Given the description of an element on the screen output the (x, y) to click on. 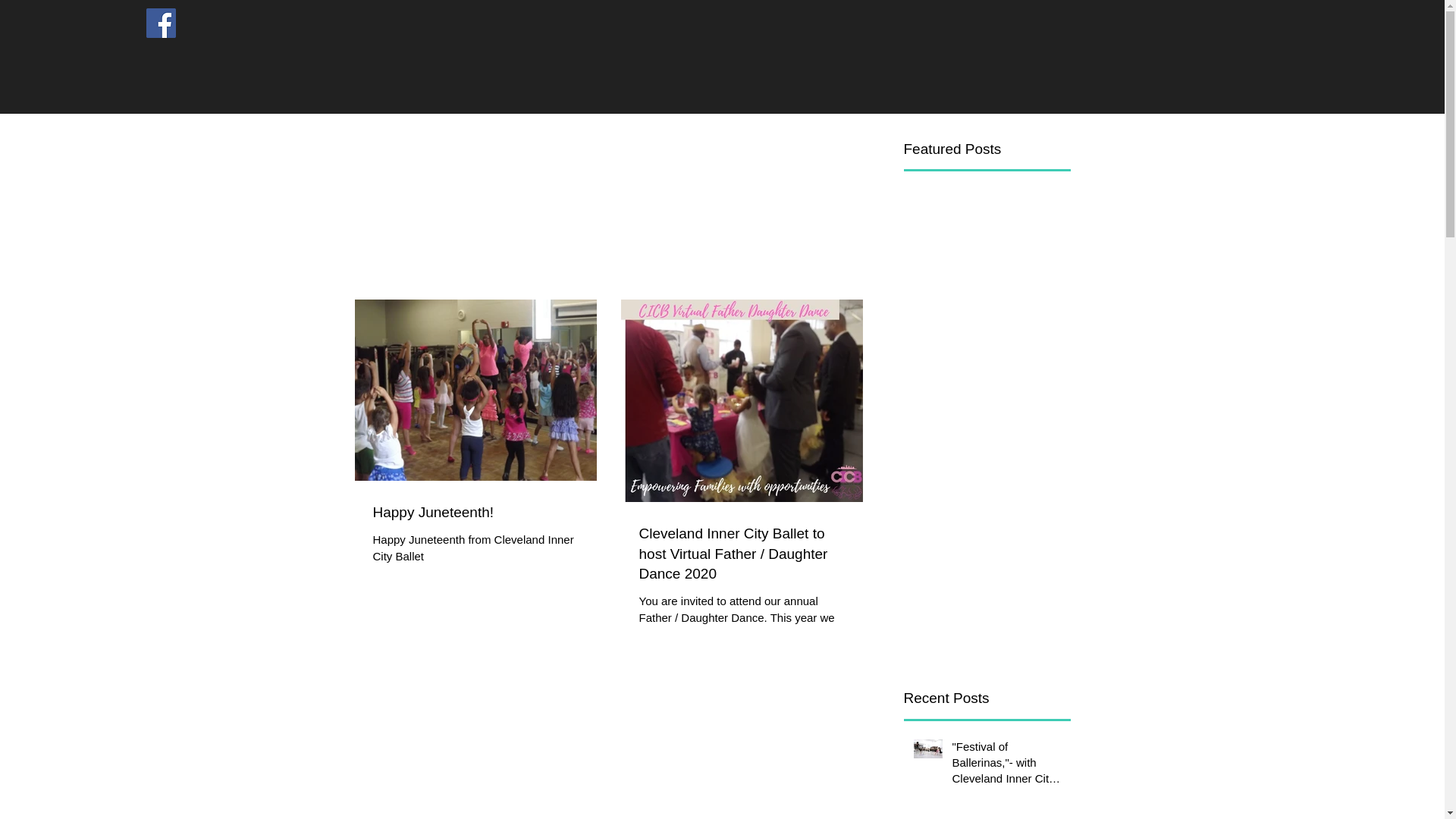
Happy Juneteenth! (475, 512)
"Festival of Ballerinas,"- with Cleveland Inner City Ballet (1006, 765)
